Given the description of an element on the screen output the (x, y) to click on. 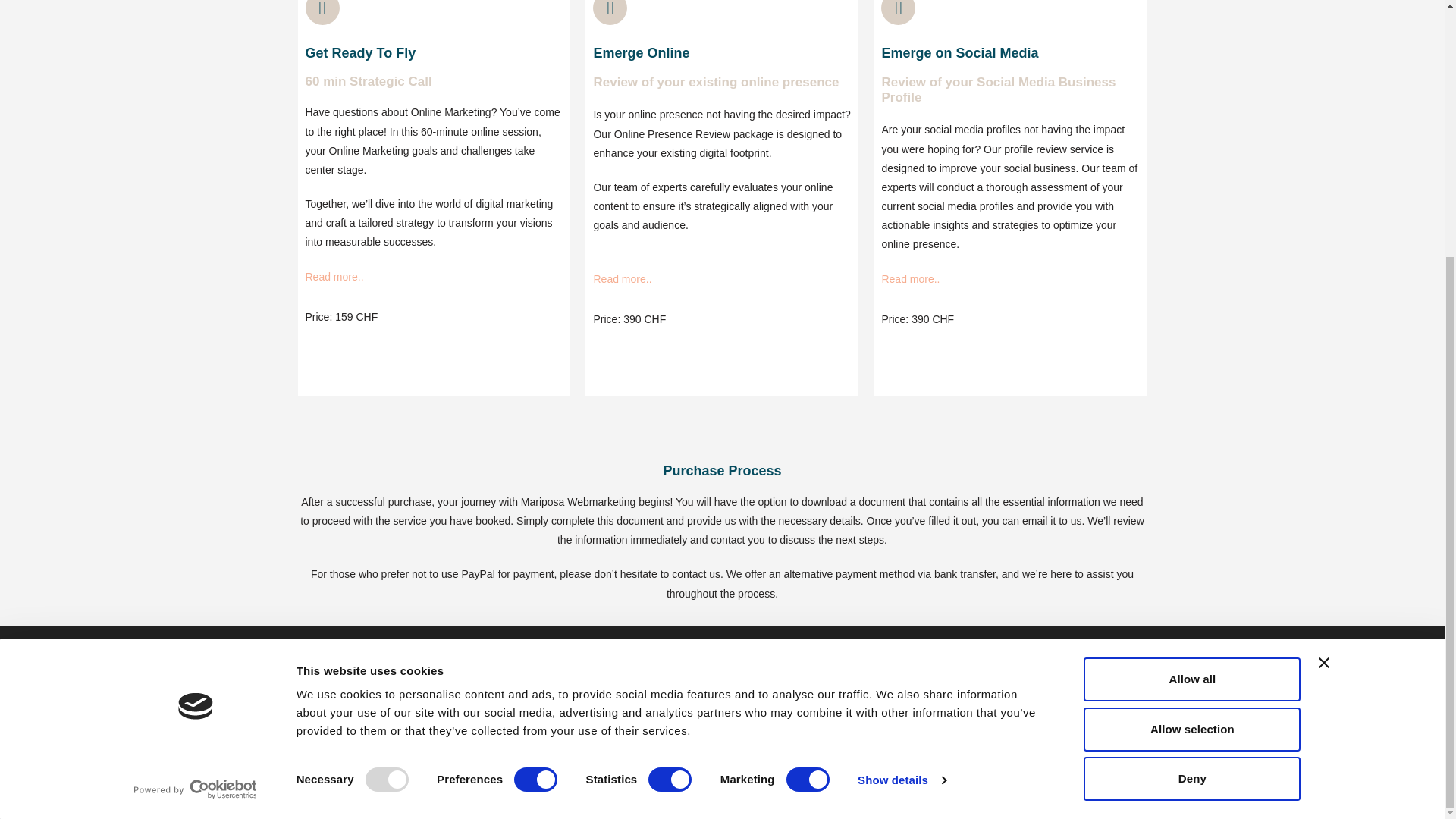
Deny (1191, 412)
Show details (900, 414)
Allow all (1191, 313)
Allow selection (1191, 362)
